Given the description of an element on the screen output the (x, y) to click on. 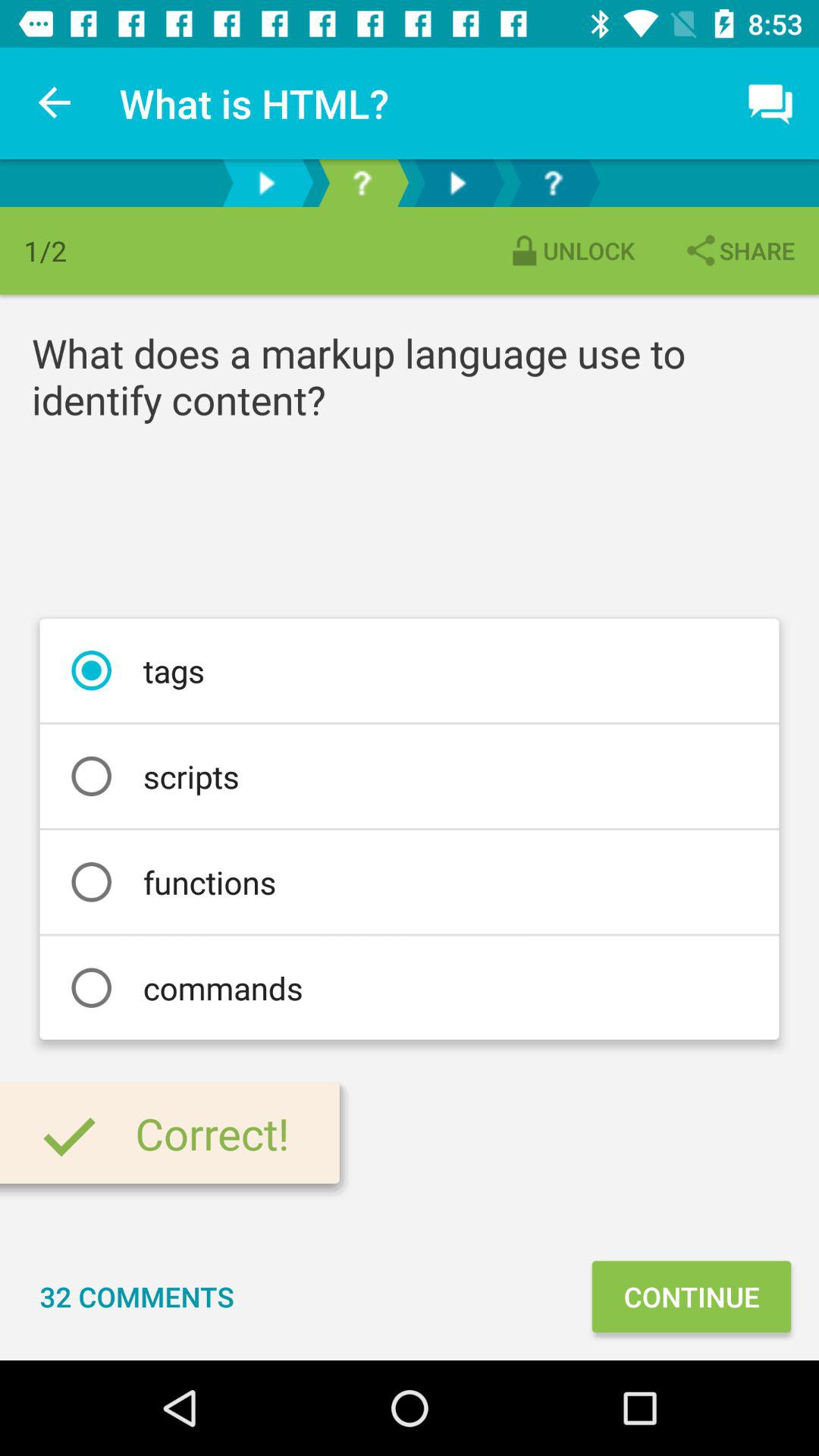
next icon (457, 183)
